Given the description of an element on the screen output the (x, y) to click on. 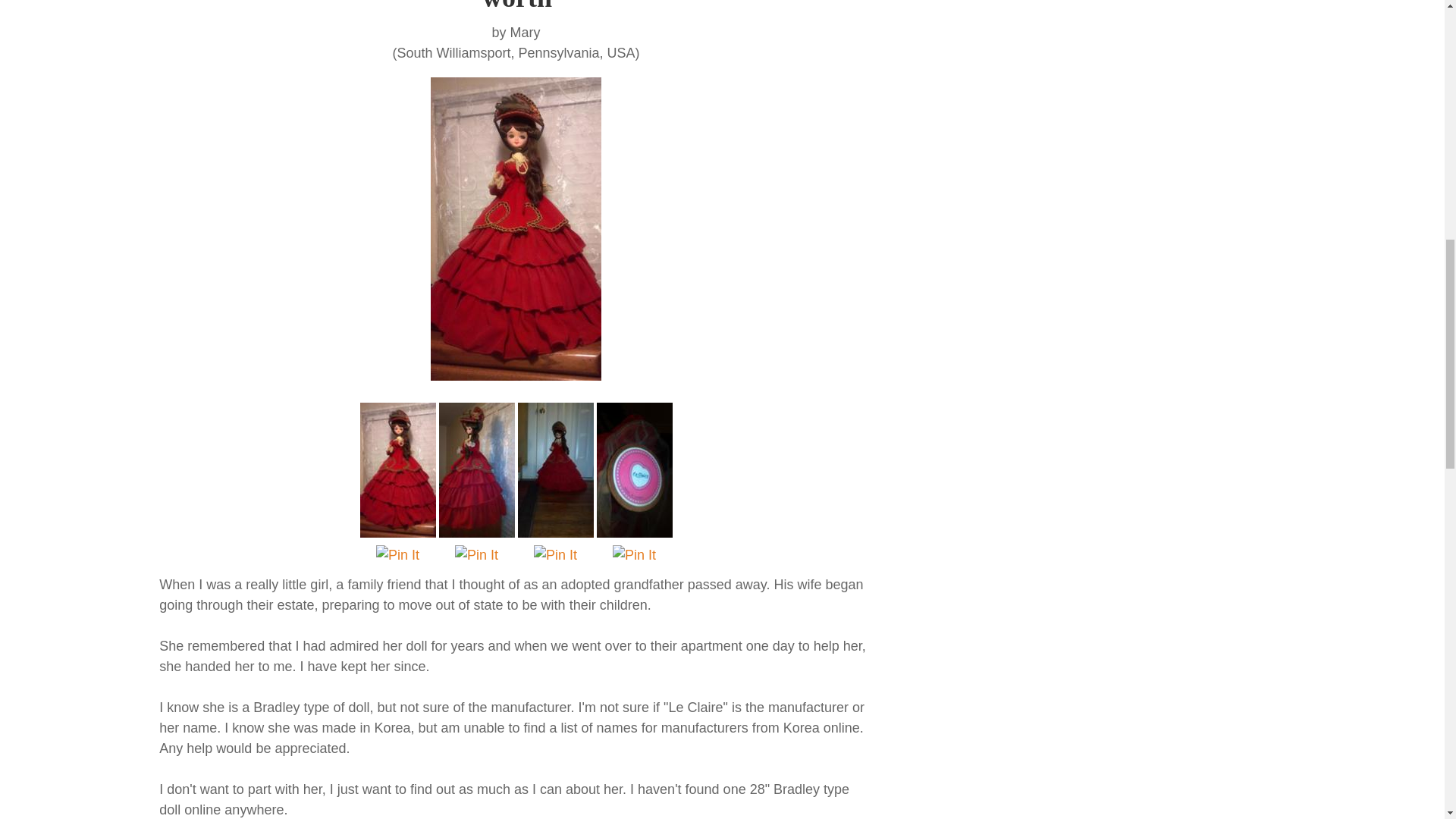
Pin It (397, 555)
Pin It (634, 555)
Pin It (555, 555)
Pin It (475, 555)
